Given the description of an element on the screen output the (x, y) to click on. 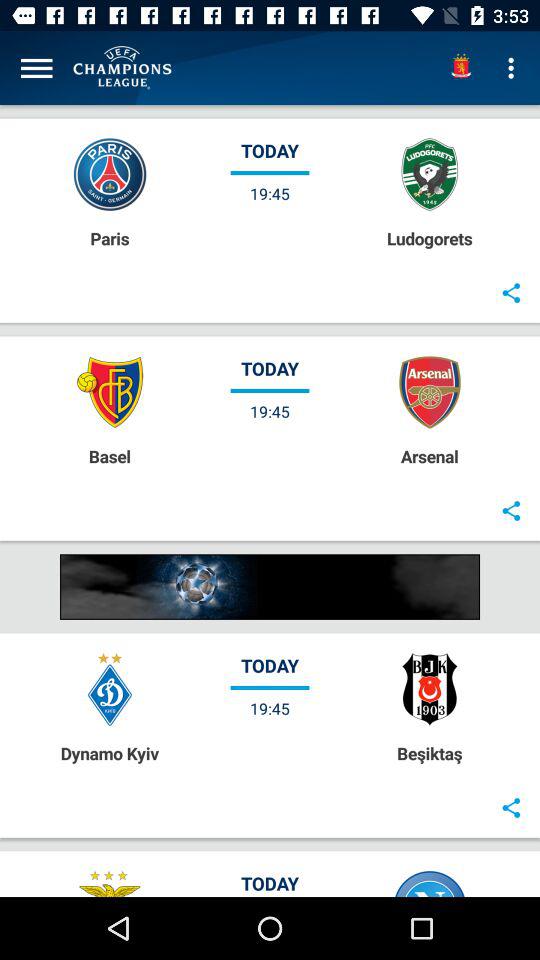
open menu list (36, 68)
